Given the description of an element on the screen output the (x, y) to click on. 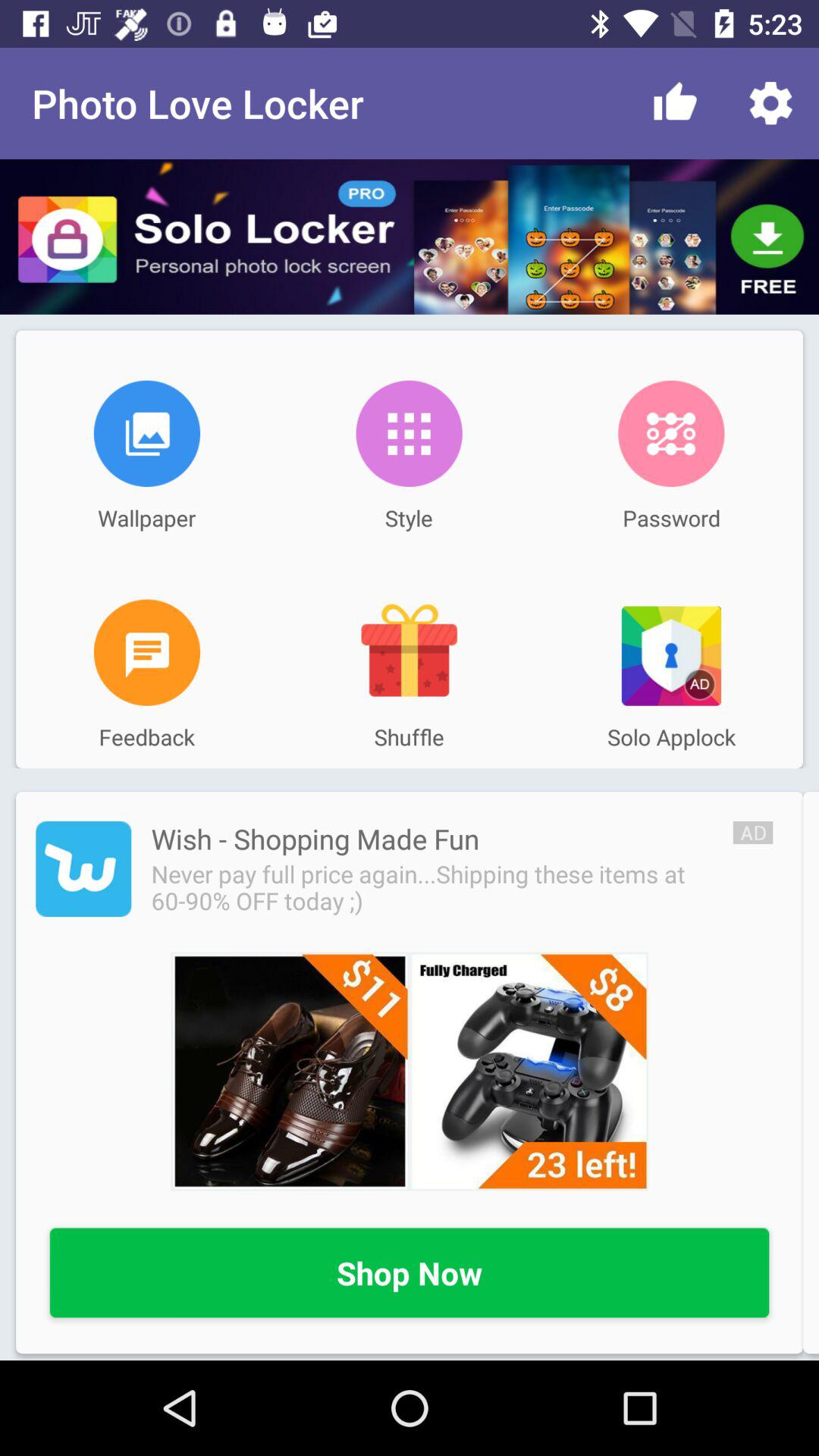
flip until never pay full item (442, 887)
